Given the description of an element on the screen output the (x, y) to click on. 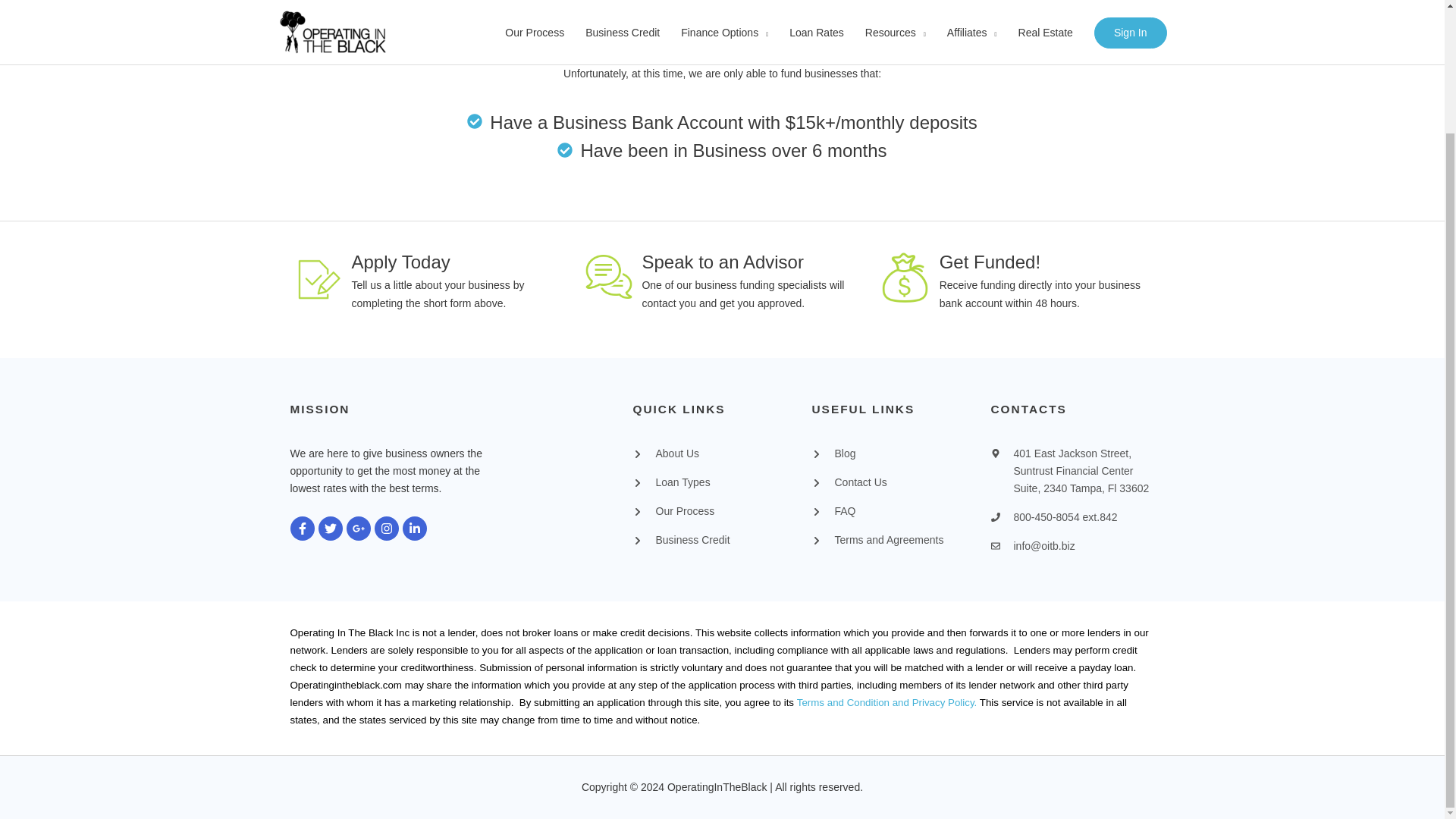
Instagram (386, 528)
Twitter (330, 528)
Google-plus-g (357, 528)
Facebook-f (301, 528)
